Given the description of an element on the screen output the (x, y) to click on. 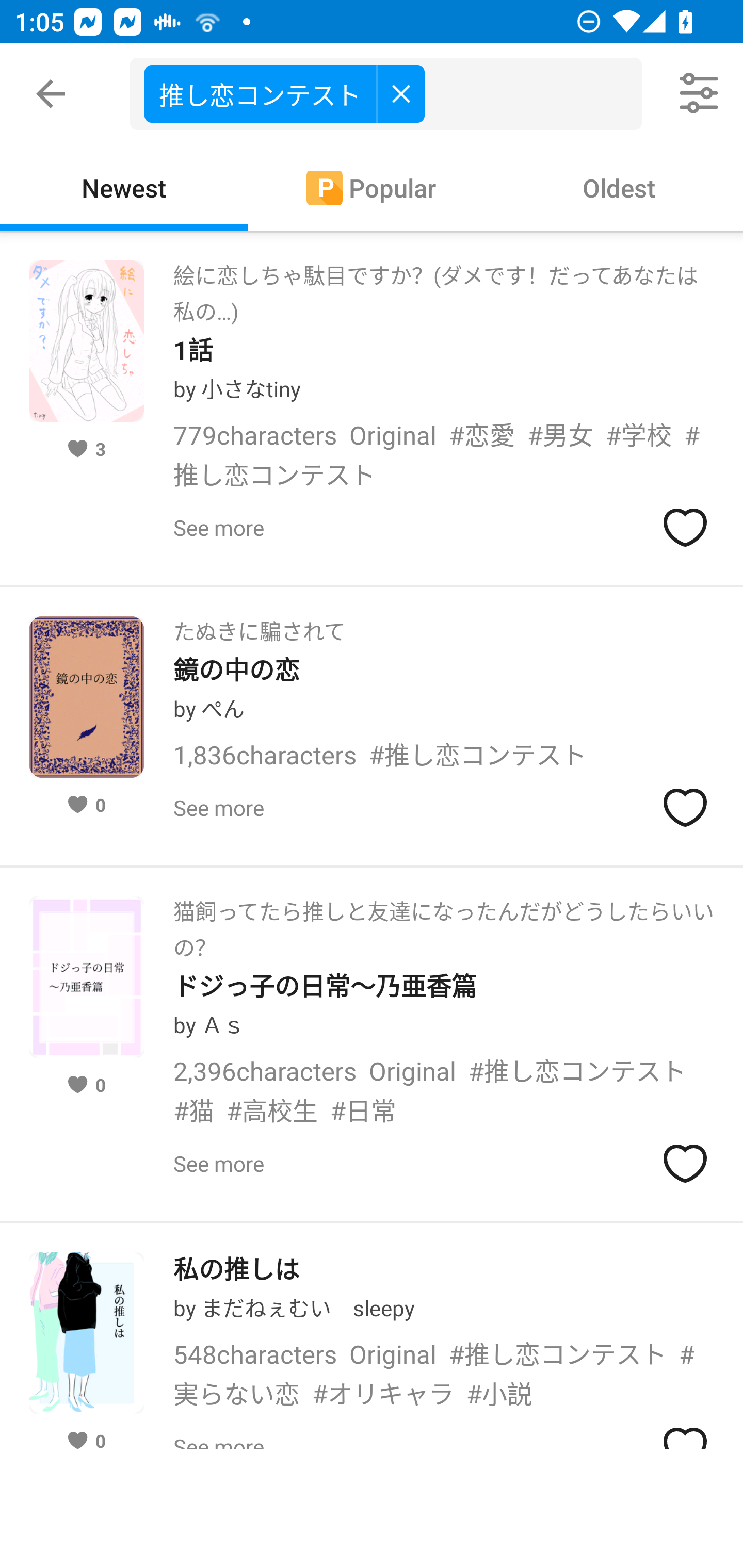
Navigate up (50, 93)
Filters (699, 93)
推し恋コンテスト (284, 93)
[P] Popular (371, 187)
Oldest (619, 187)
絵に恋しちゃ駄目ですか？(ダメです！だってあなたは私の…) (443, 287)
たぬきに騙されて (259, 625)
猫飼ってたら推しと友達になったんだがどうしたらいいの？ (443, 923)
